Given the description of an element on the screen output the (x, y) to click on. 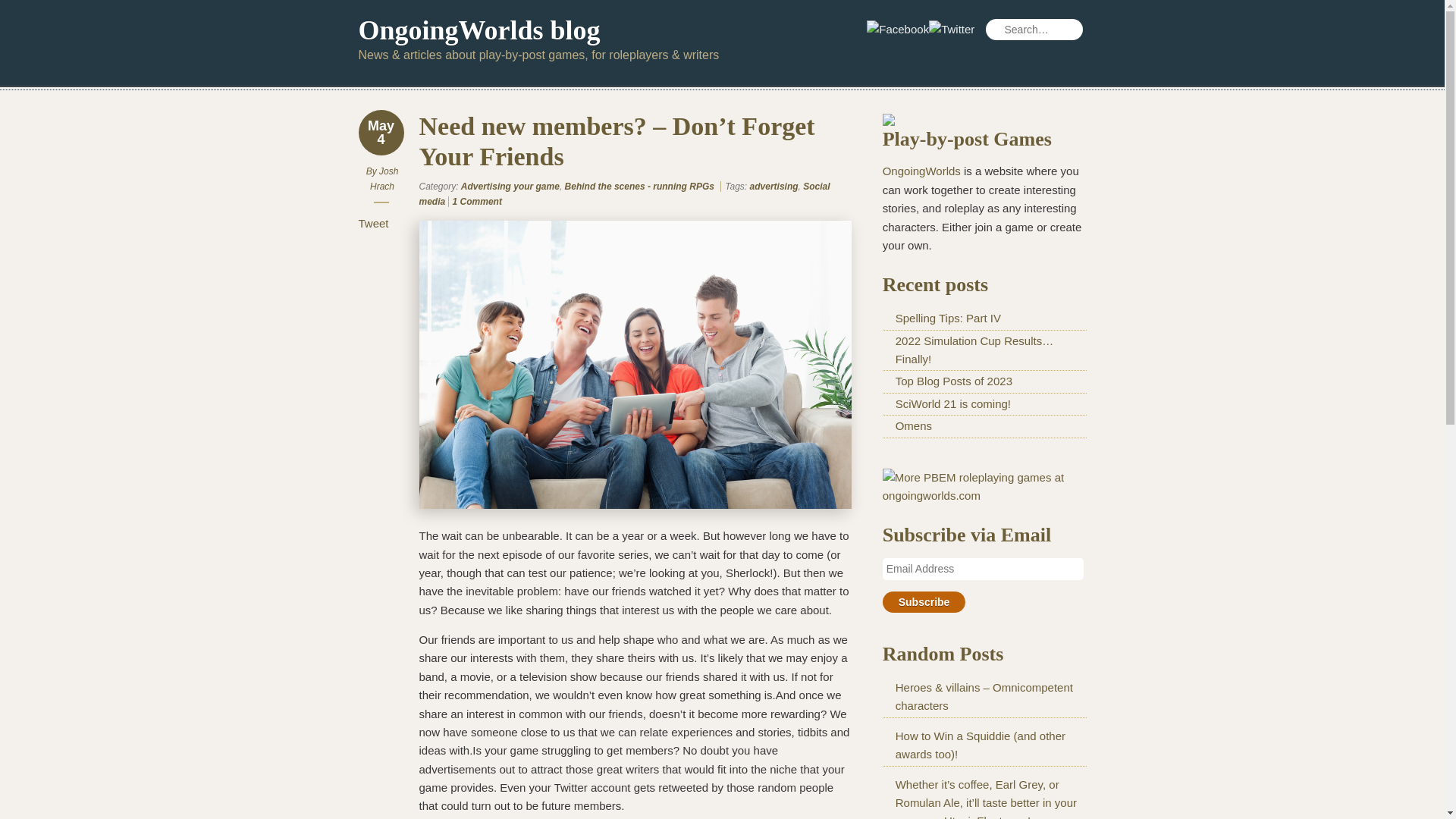
Top Blog Posts of 2023 (953, 380)
OngoingWorlds blog (478, 30)
Behind the scenes - running RPGs (639, 185)
Social media (624, 193)
OngoingWorlds (921, 170)
SciWorld 21 is coming! (952, 403)
Omens (913, 425)
Tweet (373, 223)
Josh Hrach (383, 178)
Search (33, 9)
